Given the description of an element on the screen output the (x, y) to click on. 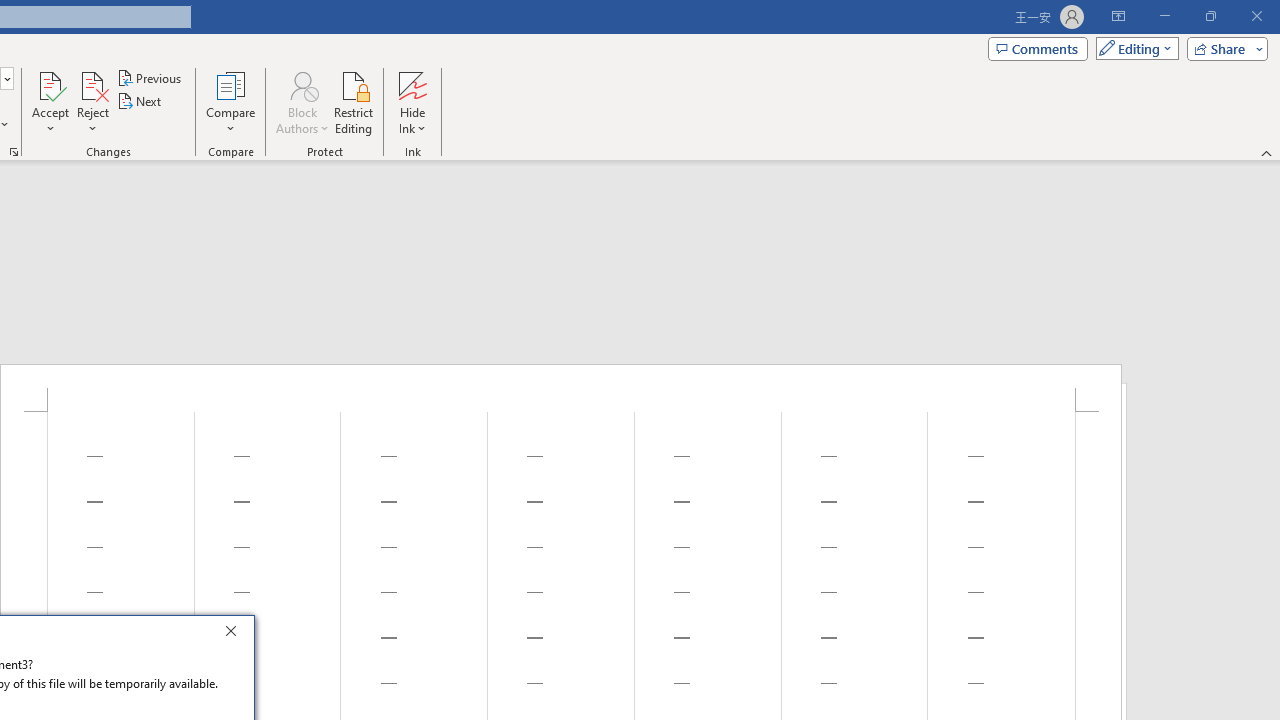
Reject and Move to Next (92, 84)
Previous (150, 78)
Next (140, 101)
Hide Ink (412, 102)
